Given the description of an element on the screen output the (x, y) to click on. 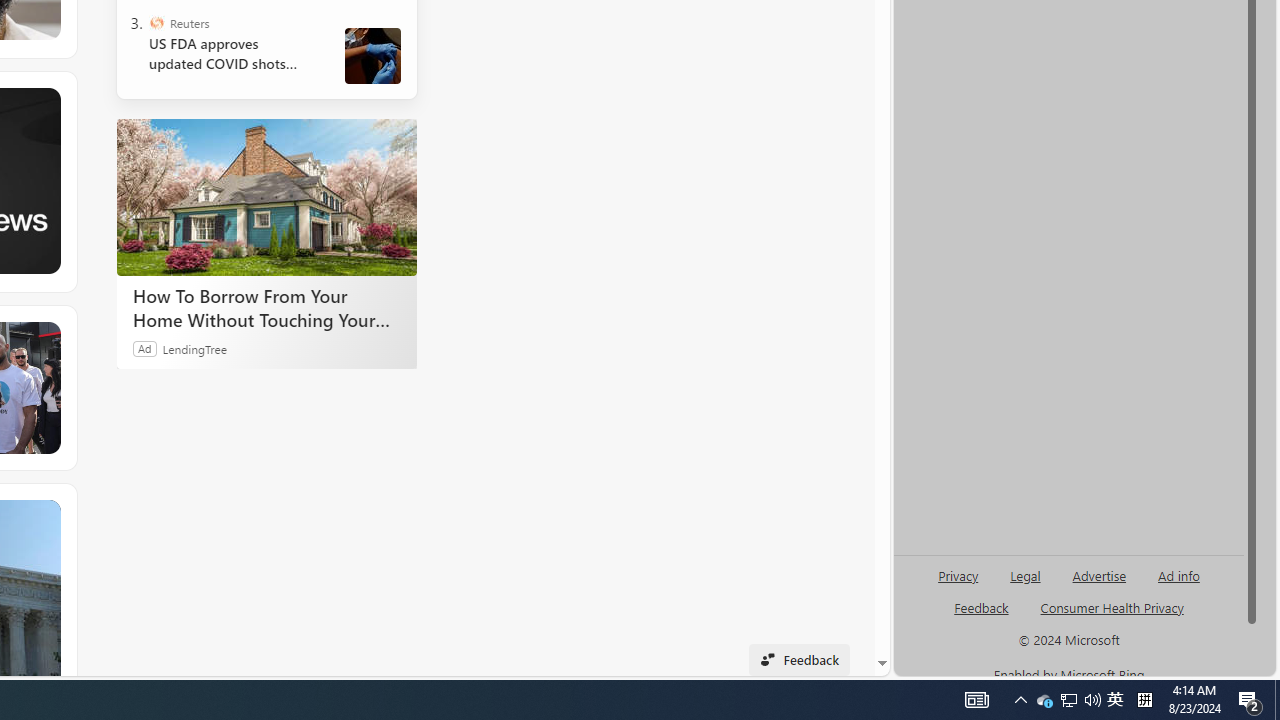
LendingTree (194, 348)
Reuters (156, 22)
US FDA approves updated COVID shots ahead of fall and winter (230, 53)
AutomationID: genId96 (981, 615)
AutomationID: sb_feedback (980, 607)
